Given the description of an element on the screen output the (x, y) to click on. 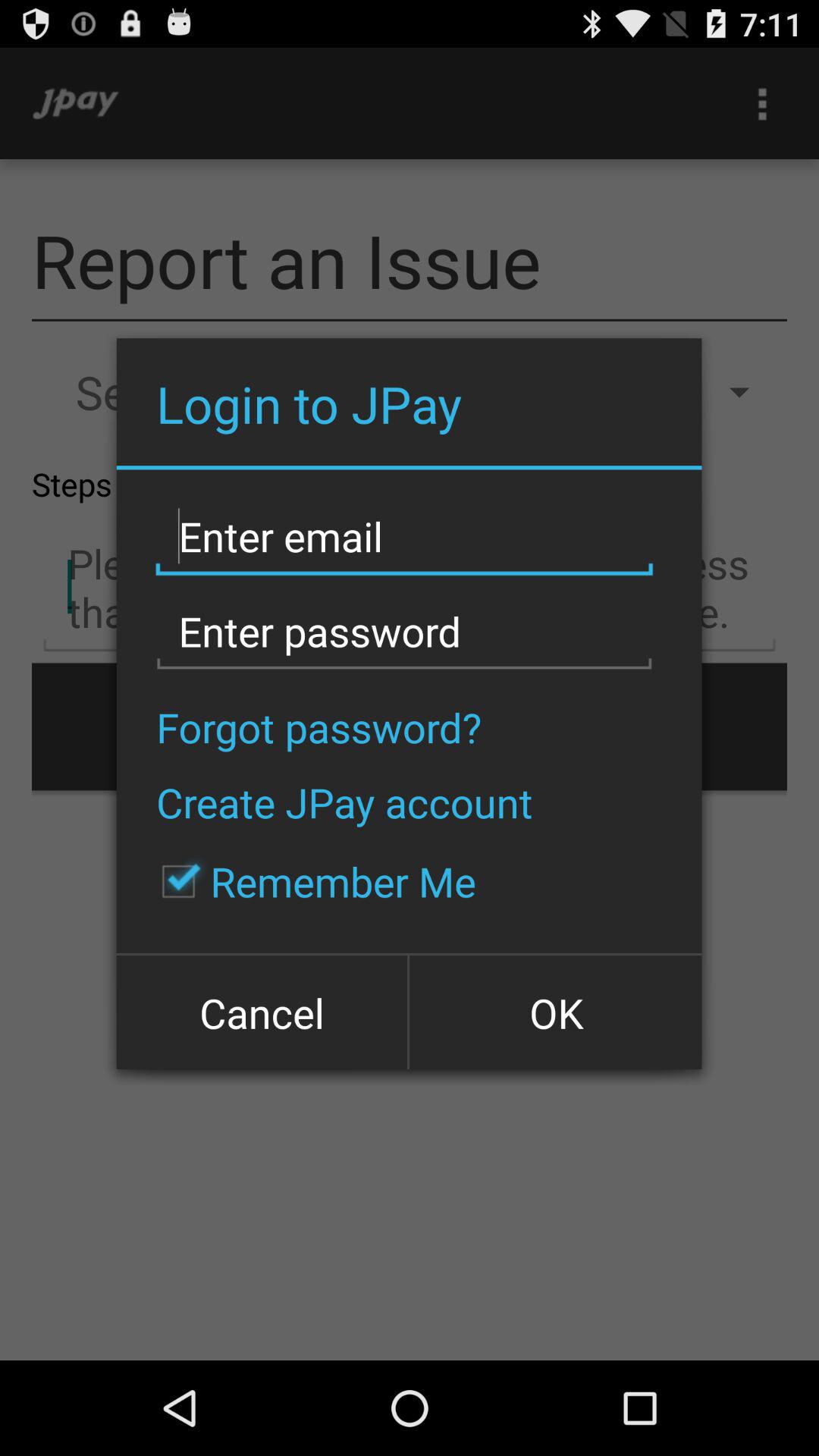
launch the icon above the create jpay account icon (318, 726)
